Given the description of an element on the screen output the (x, y) to click on. 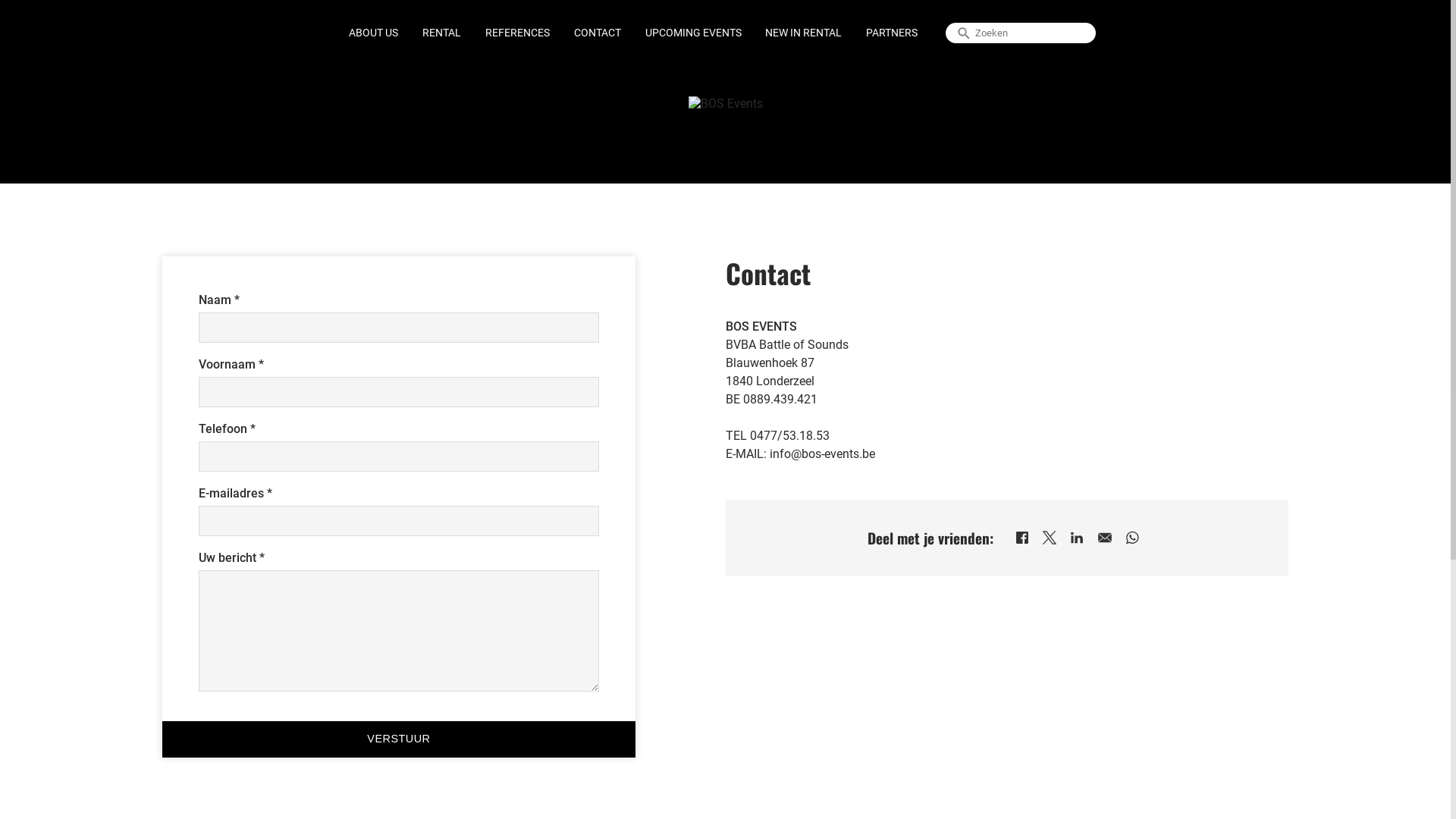
PARTNERS Element type: text (891, 32)
Share via twitter Element type: hover (1049, 537)
UPCOMING EVENTS Element type: text (693, 32)
ABOUT US Element type: text (372, 32)
Share via facebook Element type: hover (1021, 537)
CONTACT Element type: text (597, 32)
NEW IN RENTAL Element type: text (803, 32)
Share via mail Element type: hover (1104, 537)
RENTAL Element type: text (441, 32)
REFERENCES Element type: text (517, 32)
Share via linkedin Element type: hover (1076, 537)
VERSTUUR Element type: text (398, 739)
Share via whatsapp Element type: hover (1131, 537)
BOS Events Element type: hover (725, 103)
